Given the description of an element on the screen output the (x, y) to click on. 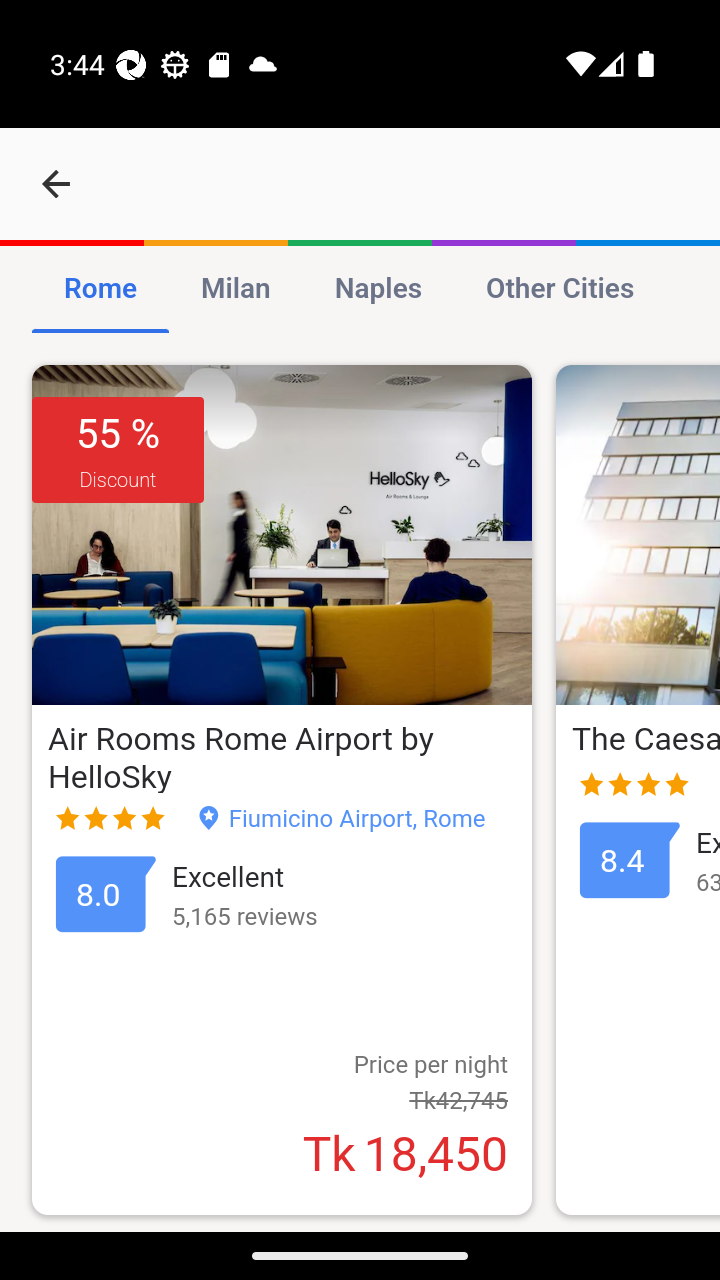
navigation_button (56, 184)
